Given the description of an element on the screen output the (x, y) to click on. 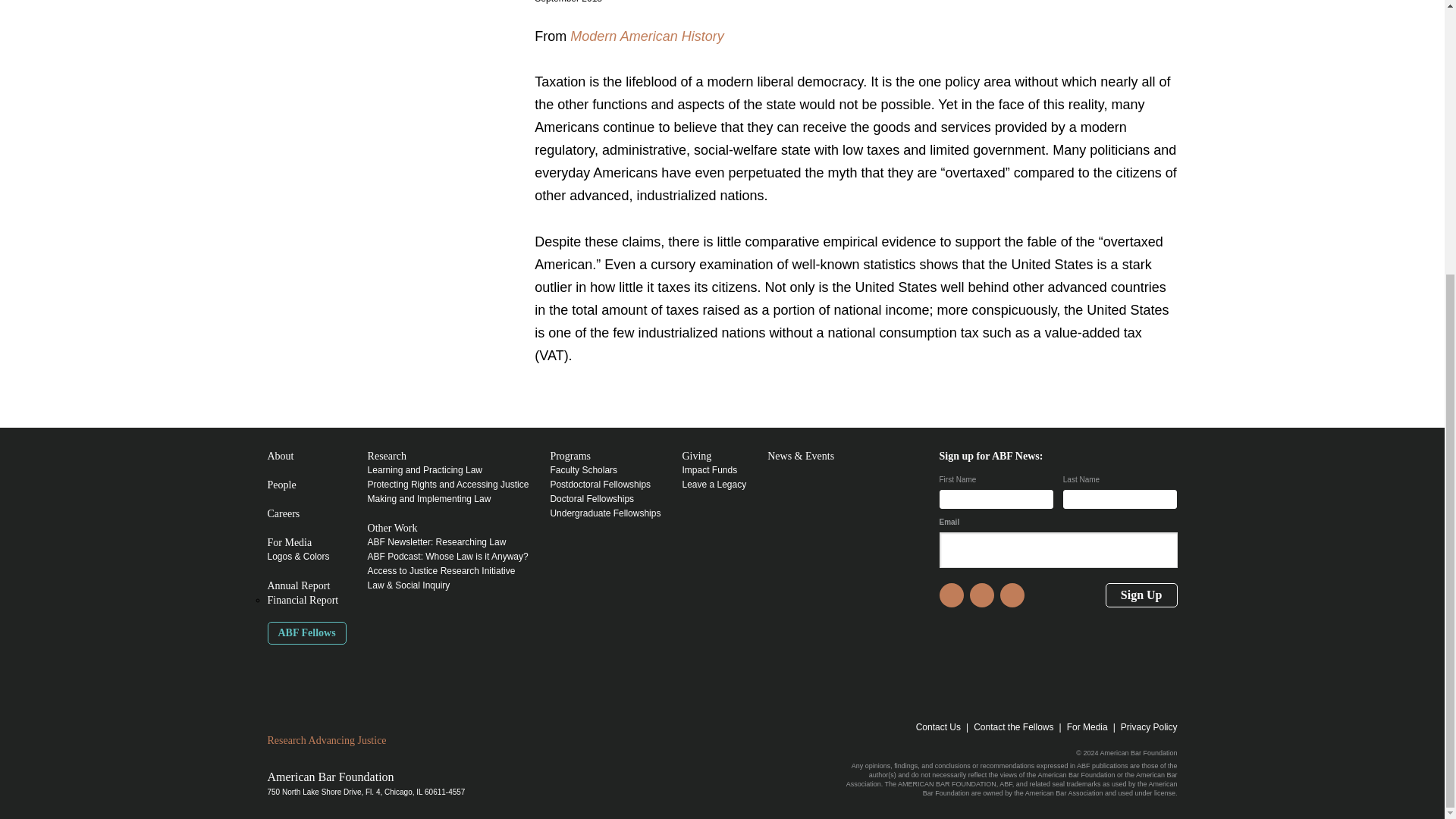
Sign Up (1141, 595)
